Given the description of an element on the screen output the (x, y) to click on. 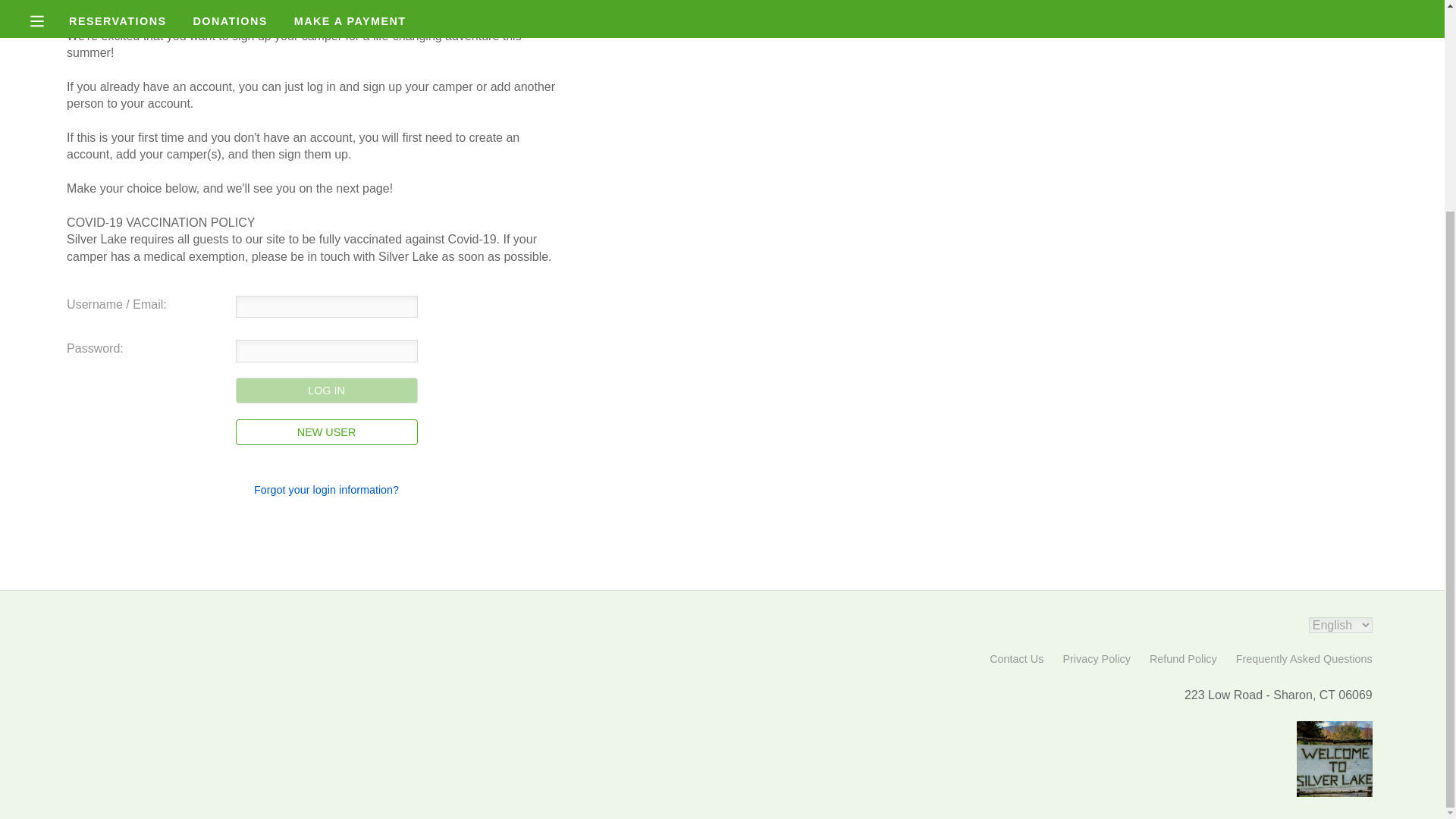
NEW USER (326, 432)
Log In (326, 390)
Log In (326, 390)
Forgot your login information? (325, 490)
Contact Us (1016, 658)
Frequently Asked Questions (1304, 658)
Privacy Policy (1096, 658)
Refund Policy (1183, 658)
